Given the description of an element on the screen output the (x, y) to click on. 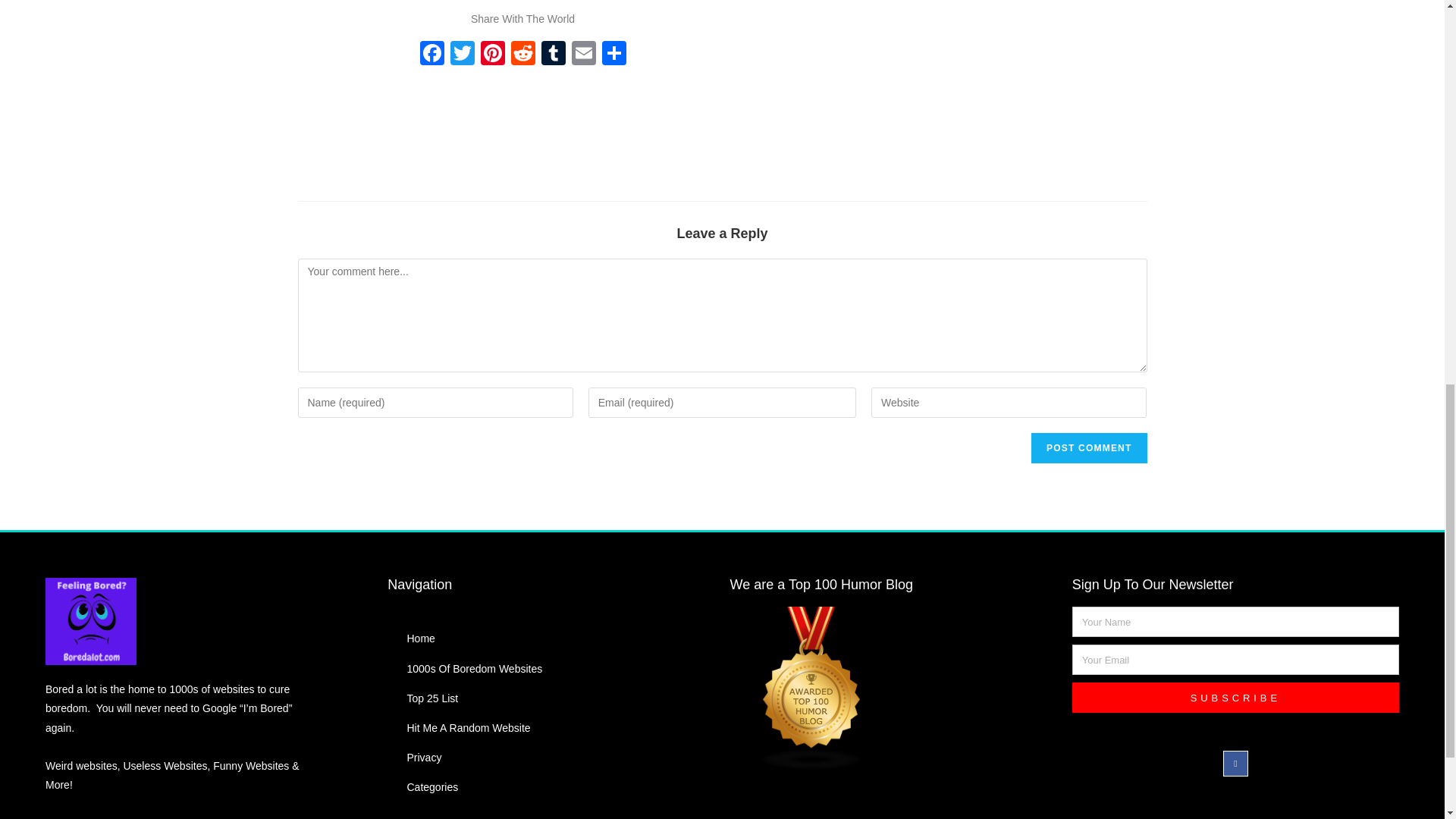
Humor blogs (893, 688)
Tumblr (553, 54)
Pinterest (492, 54)
Twitter (461, 54)
Email (583, 54)
Facebook (431, 54)
Reddit (523, 54)
Post Comment (1088, 448)
